Given the description of an element on the screen output the (x, y) to click on. 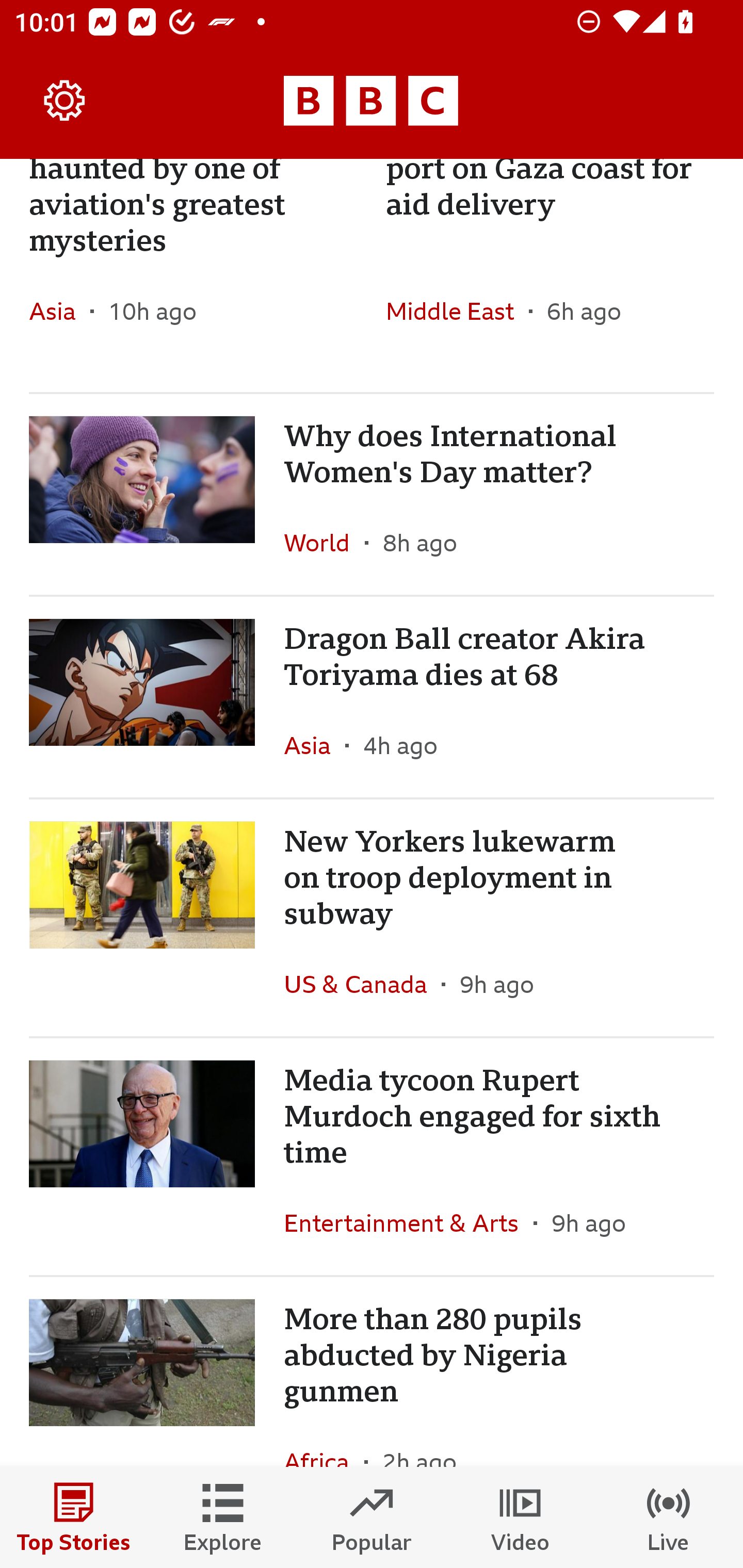
Settings (64, 100)
Asia In the section Asia (59, 310)
Middle East In the section Middle East (457, 310)
World In the section World (323, 542)
Asia In the section Asia (314, 745)
US & Canada In the section US & Canada (362, 983)
Explore (222, 1517)
Popular (371, 1517)
Video (519, 1517)
Live (668, 1517)
